Given the description of an element on the screen output the (x, y) to click on. 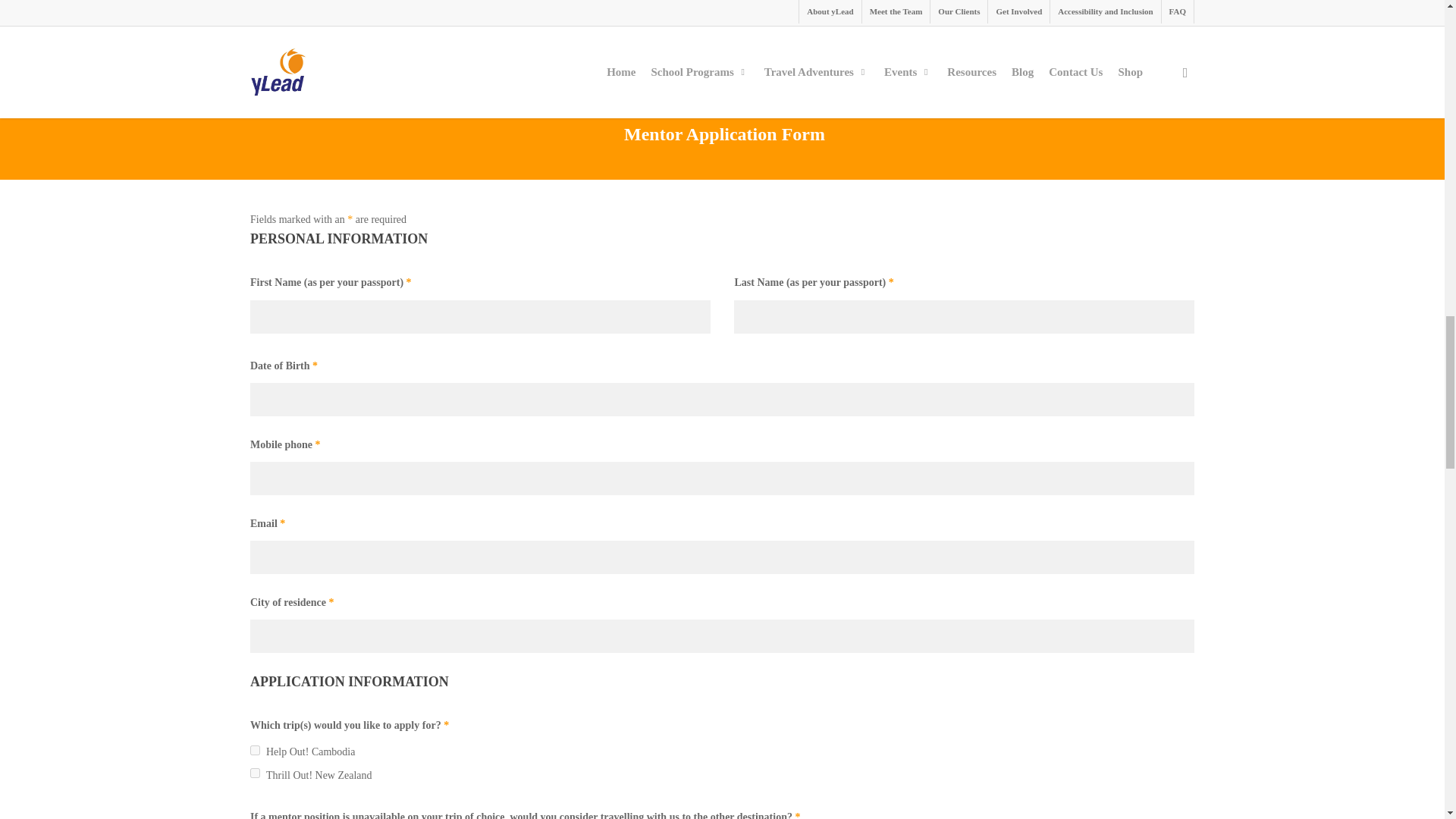
thrill-out (255, 773)
help-out (255, 750)
